Given the description of an element on the screen output the (x, y) to click on. 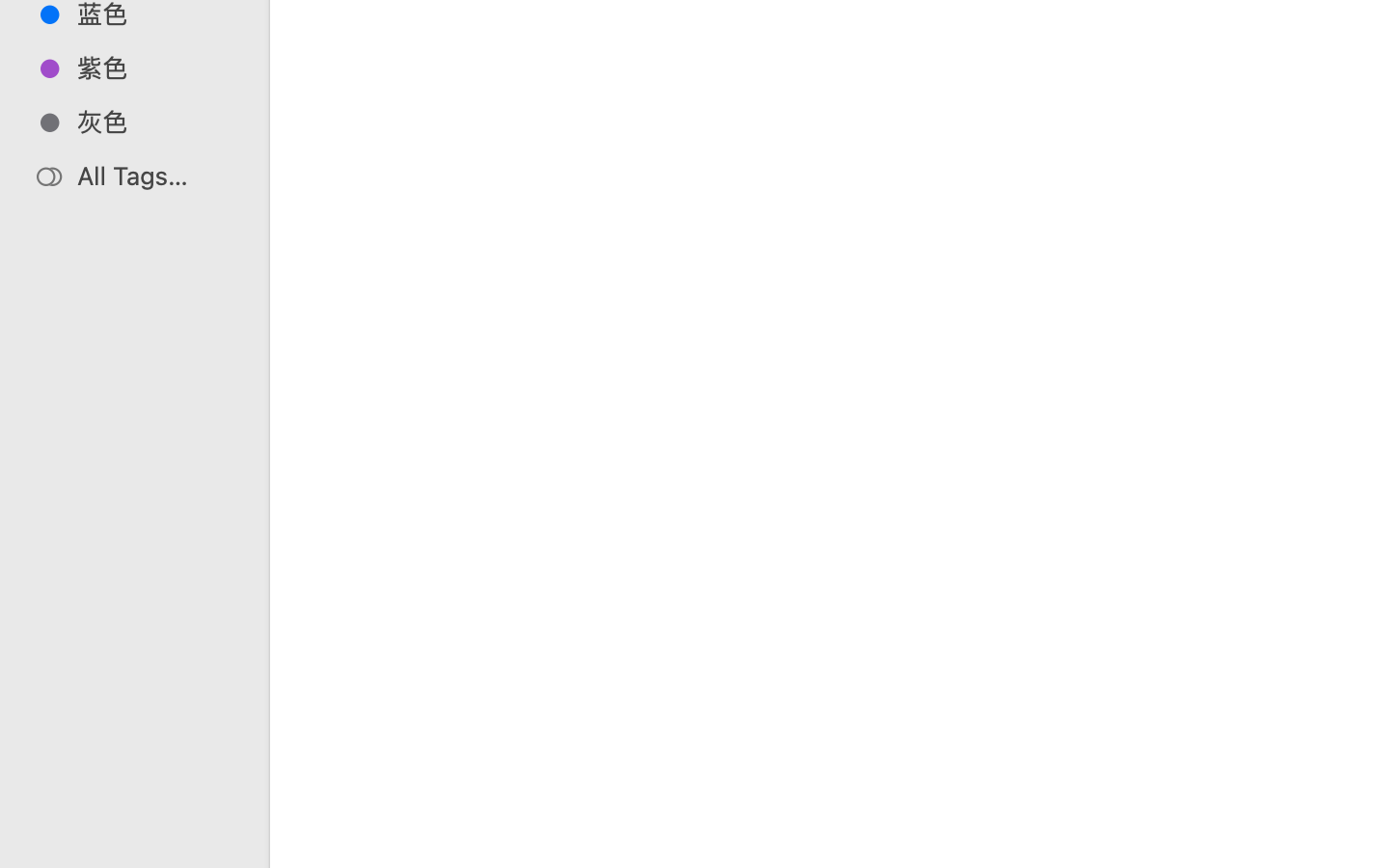
tree Element type: AXStaticText (875, 786)
灰色 Element type: AXStaticText (155, 121)
紫色 Element type: AXStaticText (155, 67)
0 Element type: AXRadioButton (23, 846)
Tags… Element type: AXStaticText (41, 852)
